Given the description of an element on the screen output the (x, y) to click on. 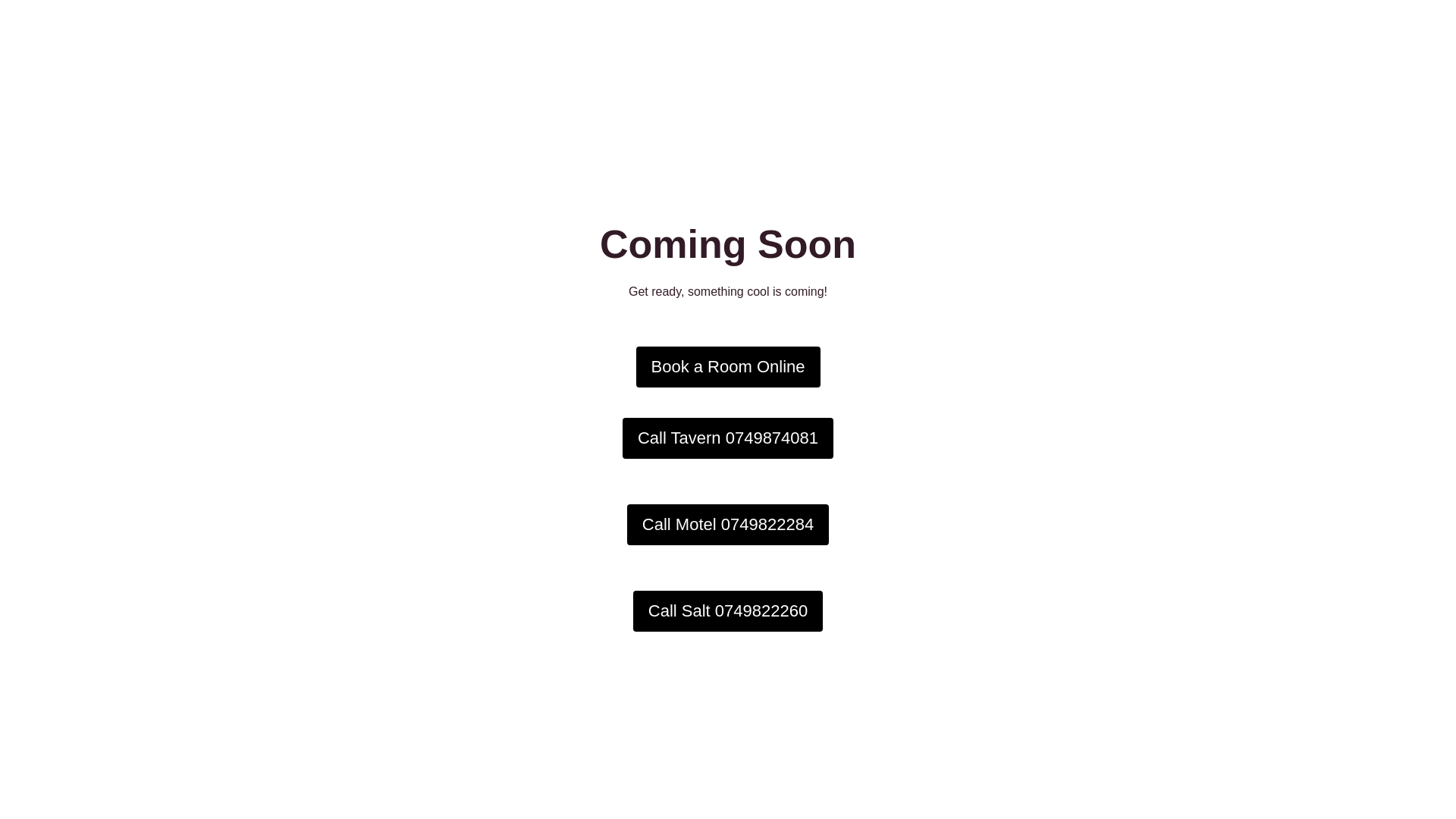
Call Tavern 0749874081 Element type: text (727, 437)
Book a Room Online Element type: text (727, 366)
Call Motel 0749822284 Element type: text (727, 524)
Call Salt 0749822260 Element type: text (727, 610)
